Given the description of an element on the screen output the (x, y) to click on. 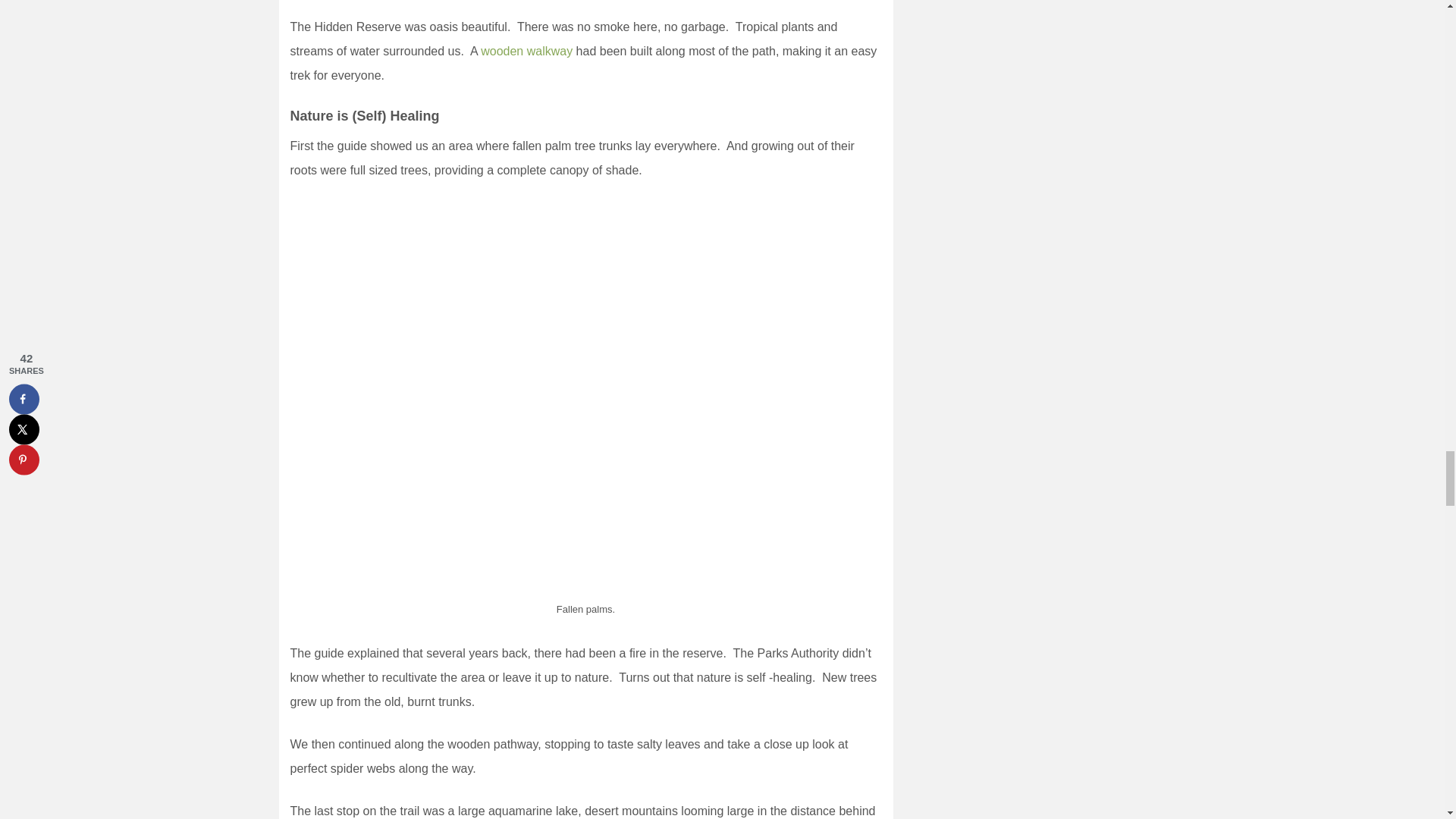
wooden walkway (527, 51)
